Given the description of an element on the screen output the (x, y) to click on. 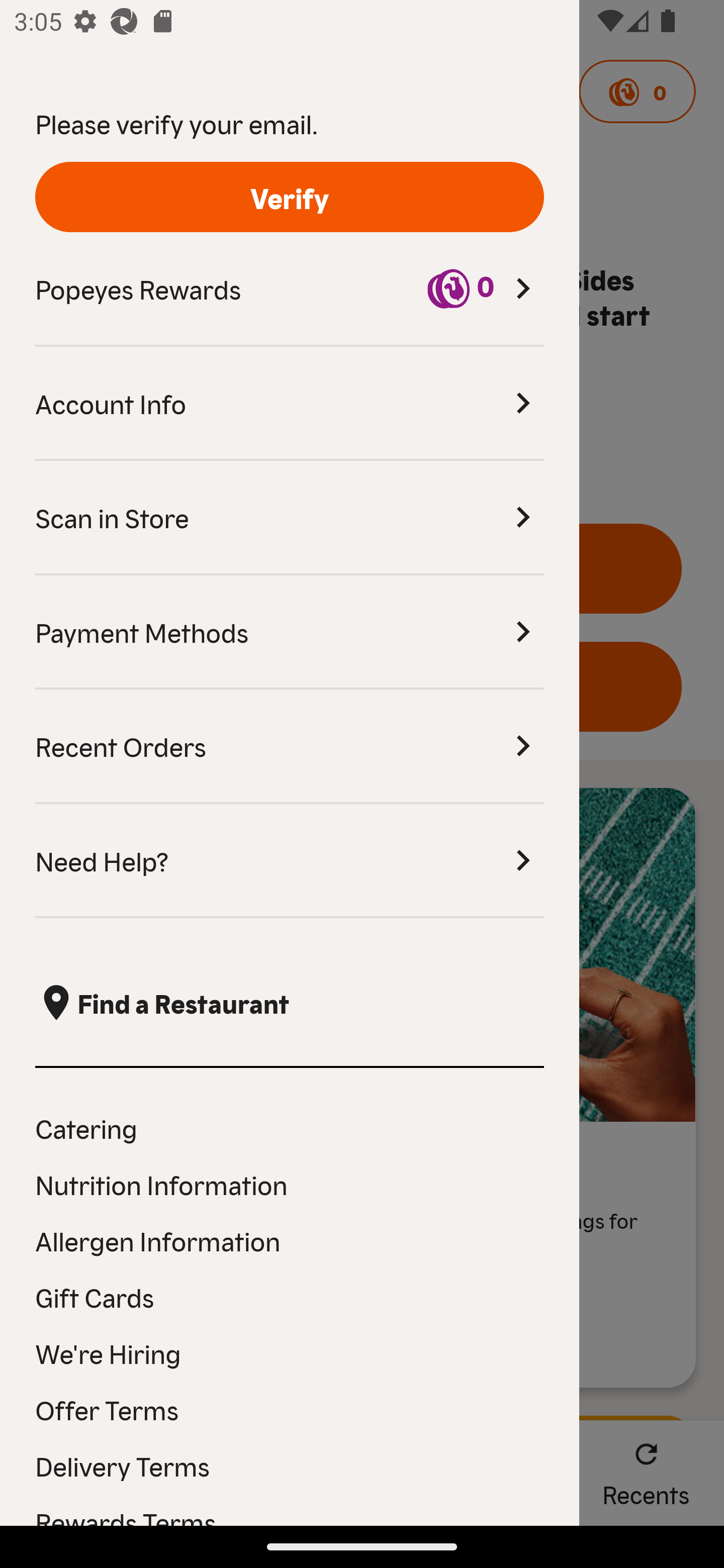
Verify (289, 196)
Account Info Account Info  (289, 403)
Scan in Store Scan in Store  (289, 517)
Payment Methods Payment Methods  (289, 632)
Recent Orders Recent Orders  (289, 746)
Need Help? Need Help?  (289, 861)
, Find a Restaurant  Find a Restaurant (289, 1002)
Catering (289, 1127)
Nutrition Information (289, 1183)
Allergen Information (289, 1240)
Gift Cards (289, 1296)
We're Hiring (289, 1352)
Offer Terms (289, 1409)
Delivery Terms (289, 1465)
